Given the description of an element on the screen output the (x, y) to click on. 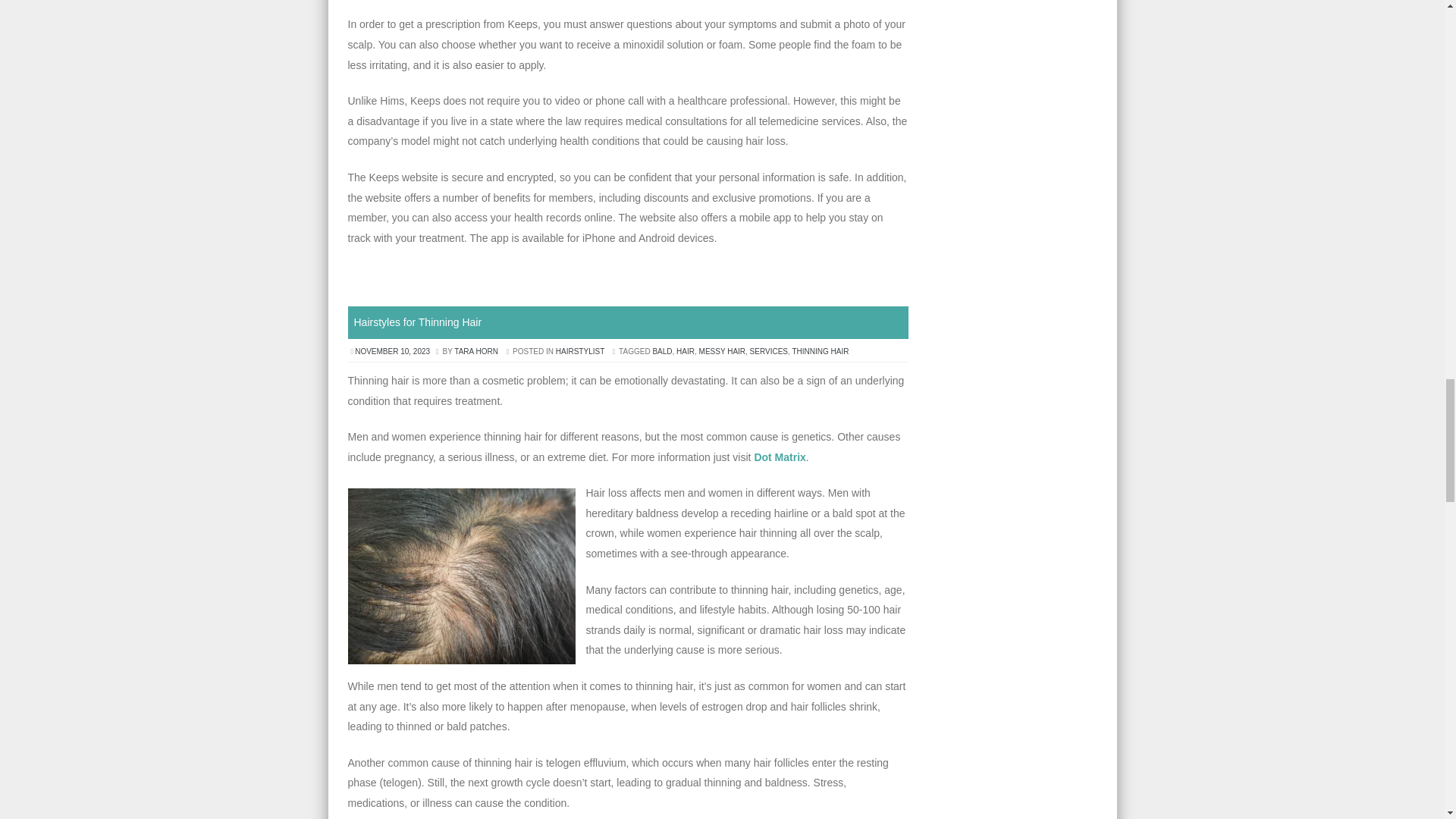
Hairstyles for Thinning Hair (417, 322)
HAIRSTYLIST (580, 351)
TARA HORN (475, 351)
View all posts by Tara Horn (475, 351)
11:16 pm (392, 351)
NOVEMBER 10, 2023 (392, 351)
BALD (661, 351)
THINNING HAIR (820, 351)
Dot Matrix (779, 457)
MESSY HAIR (721, 351)
